Given the description of an element on the screen output the (x, y) to click on. 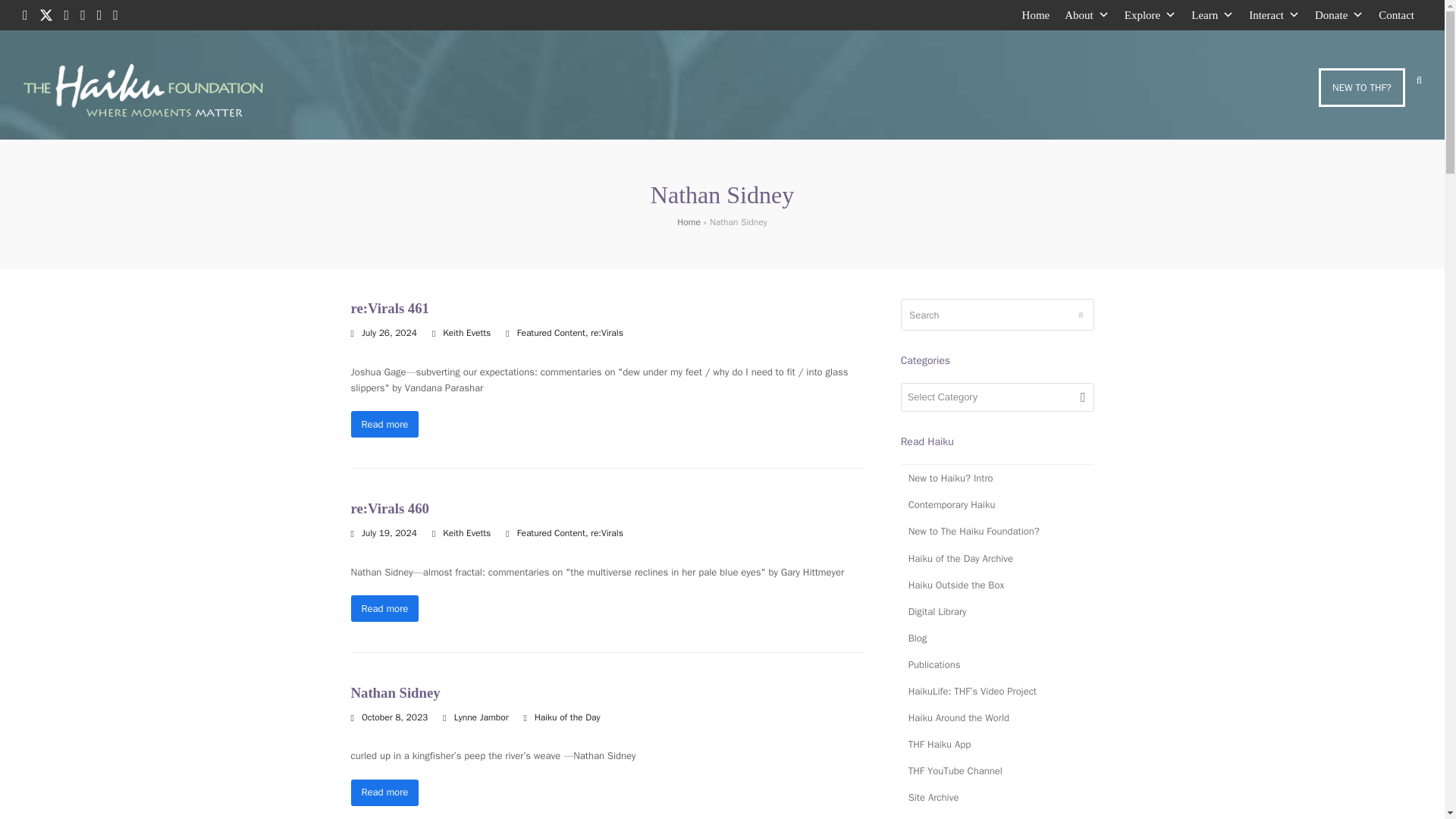
Posts by Keith Evetts (466, 332)
Posts by Lynne Jambor (481, 717)
Posts by Keith Evetts (466, 532)
